Given the description of an element on the screen output the (x, y) to click on. 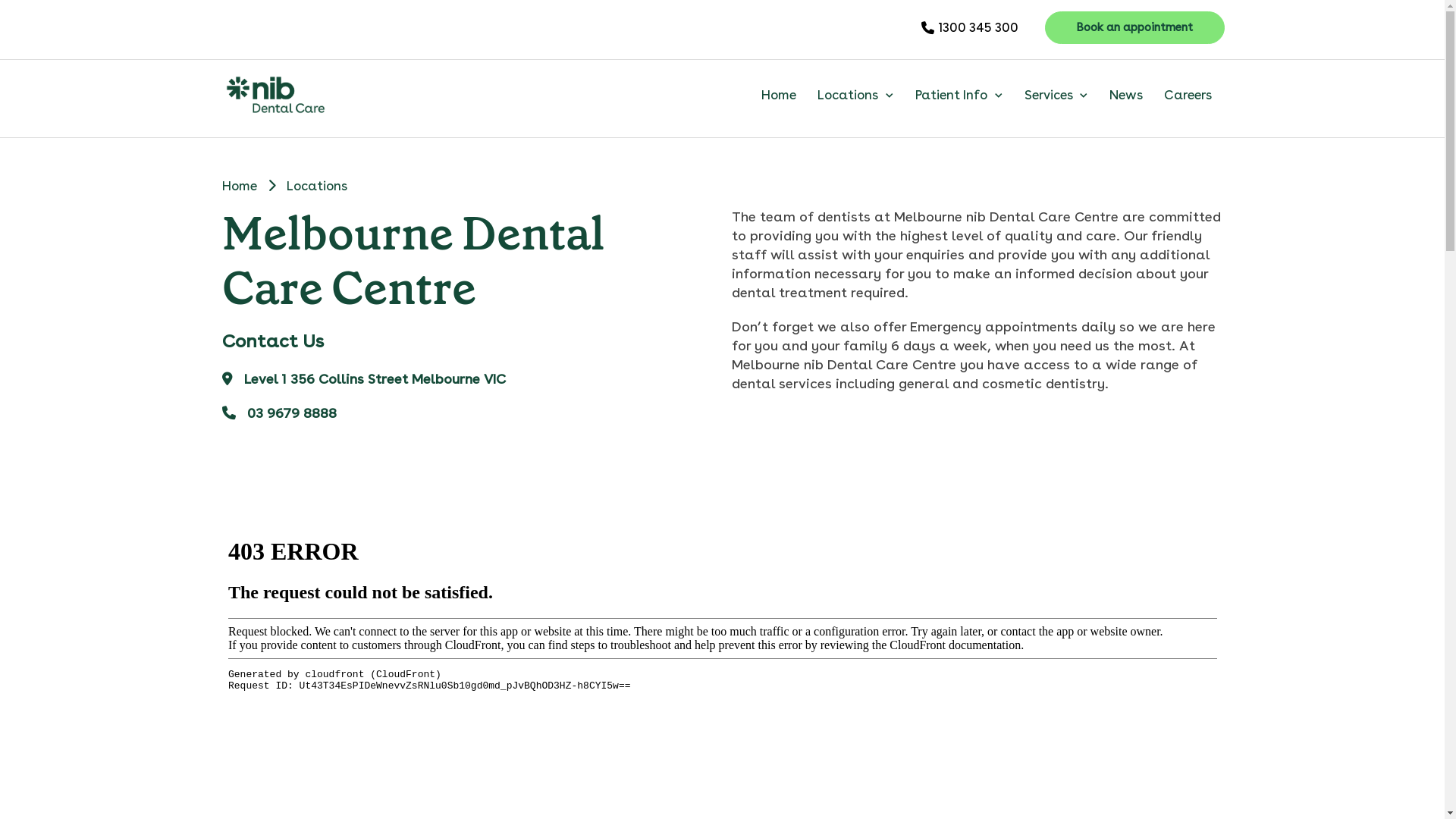
Home Element type: text (238, 185)
Patient Info Element type: text (958, 94)
Locations Element type: text (855, 94)
Services Element type: text (1055, 94)
Careers Element type: text (1187, 94)
News Element type: text (1125, 94)
Level 1 356 Collins Street Melbourne VIC Element type: text (466, 386)
1300 345 300 Element type: text (968, 27)
Locations Element type: text (316, 185)
03 9679 8888 Element type: text (466, 420)
Home Element type: text (778, 94)
Book an appointment Element type: text (1134, 27)
